Given the description of an element on the screen output the (x, y) to click on. 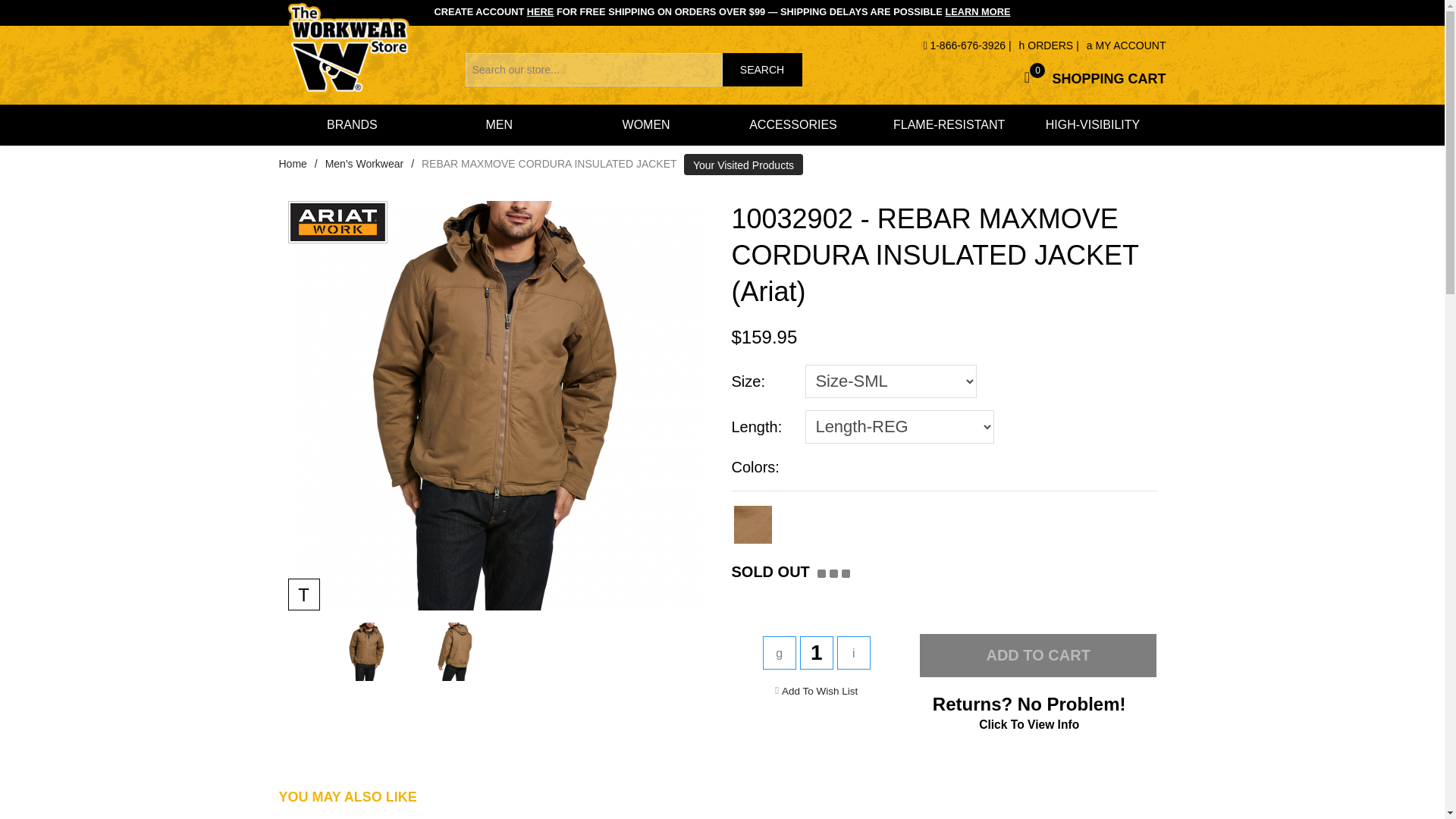
MEN (498, 124)
1 (815, 652)
Home (293, 163)
Ariat (1090, 77)
Size: (337, 221)
Welcome to The Workwear Store (762, 381)
Men's Workwear (349, 48)
REBAR WORKMAN SWEATSHIRT (364, 163)
MY ACCOUNT (722, 796)
Add To Wish List (1126, 45)
LEARN MORE (819, 690)
BRANDS (977, 11)
SEARCH (351, 124)
ORDERS (762, 69)
